Given the description of an element on the screen output the (x, y) to click on. 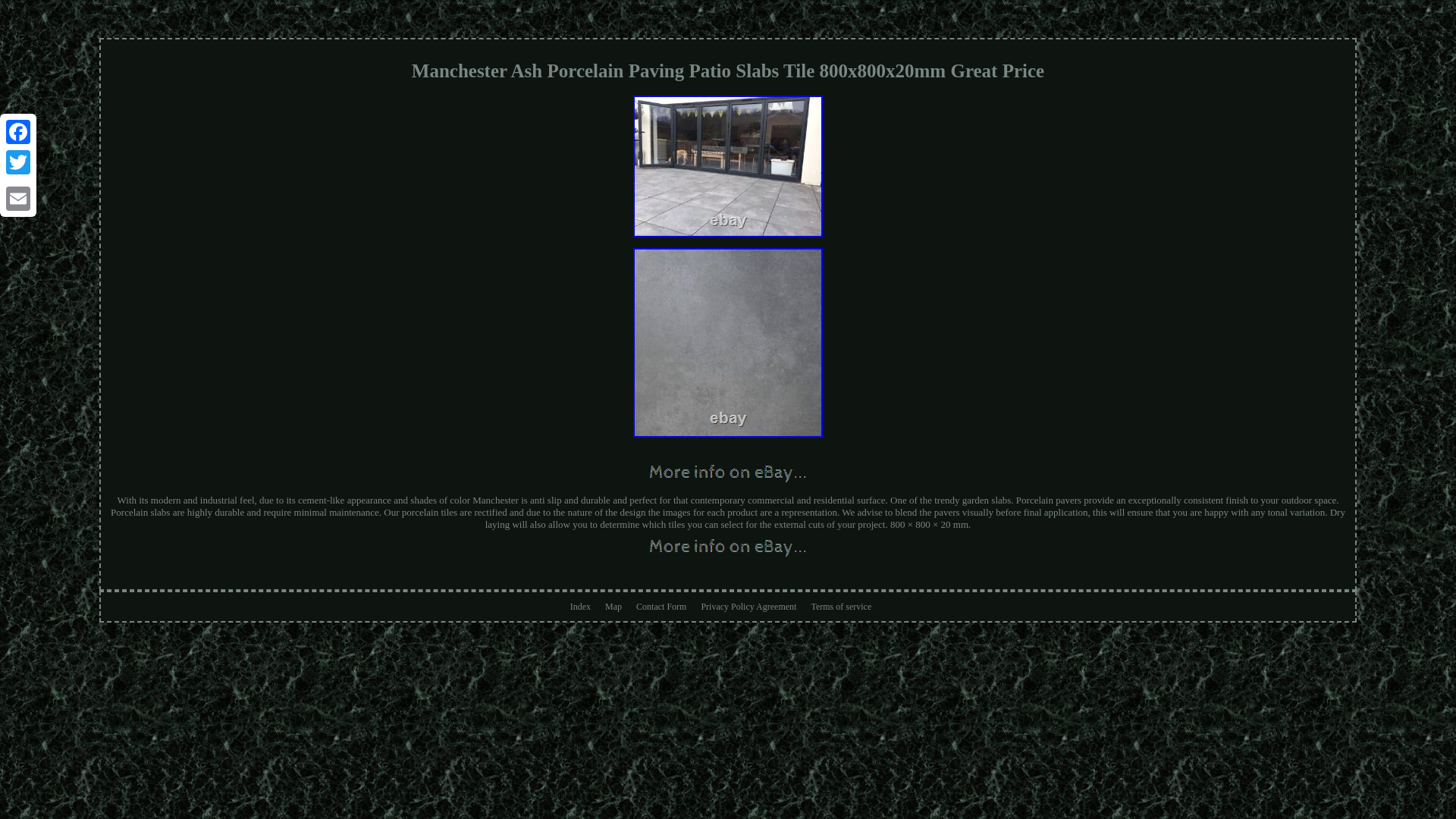
Twitter (17, 162)
Email (17, 198)
Facebook (17, 132)
